Given the description of an element on the screen output the (x, y) to click on. 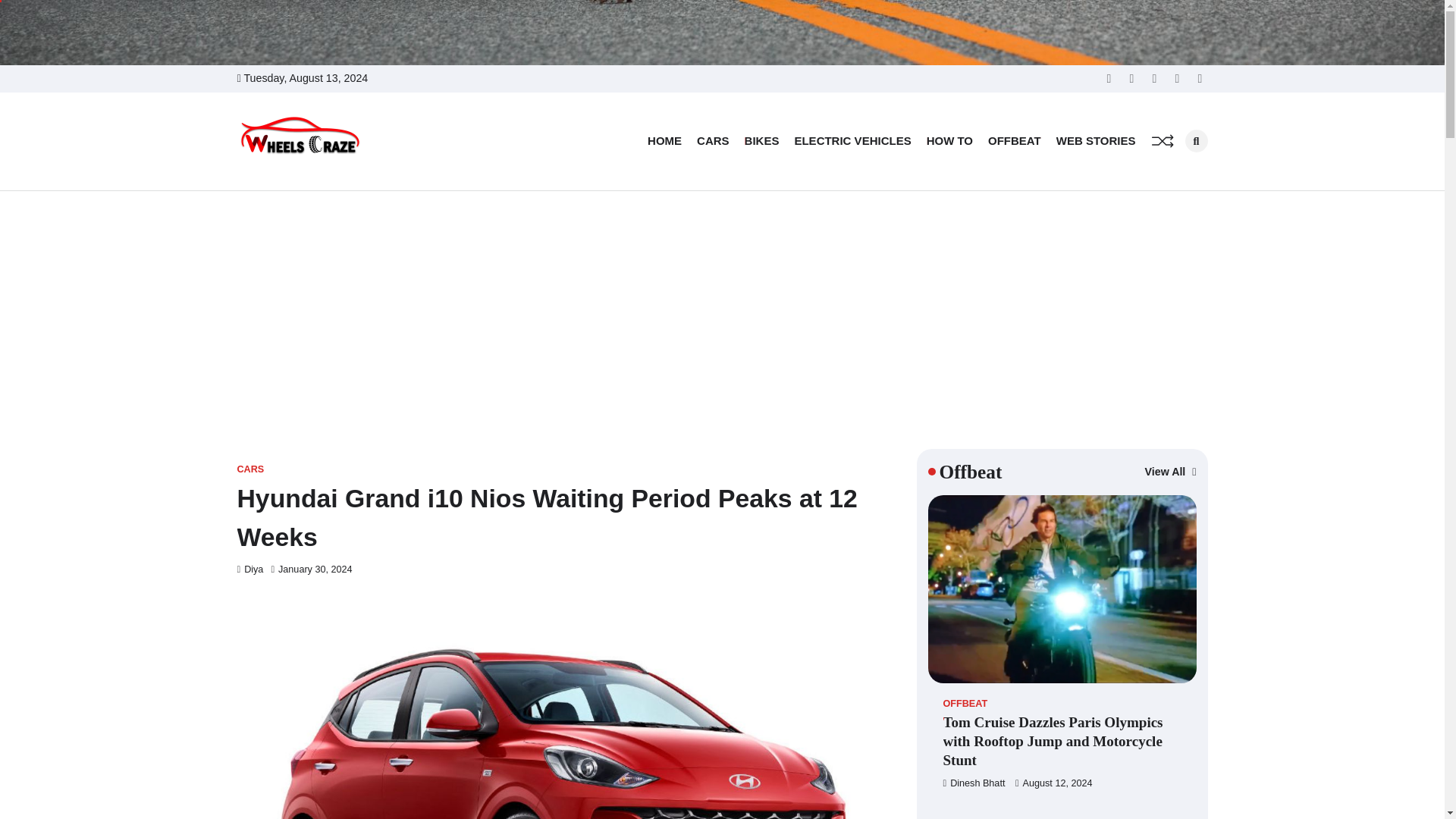
WEB STORIES (1096, 141)
ELECTRIC VEHICLES (852, 141)
CARS (713, 141)
HOW TO (949, 141)
HOME (664, 141)
Instagram (1177, 78)
January 30, 2024 (311, 569)
OFFBEAT (1014, 141)
Twitter (1108, 78)
